Given the description of an element on the screen output the (x, y) to click on. 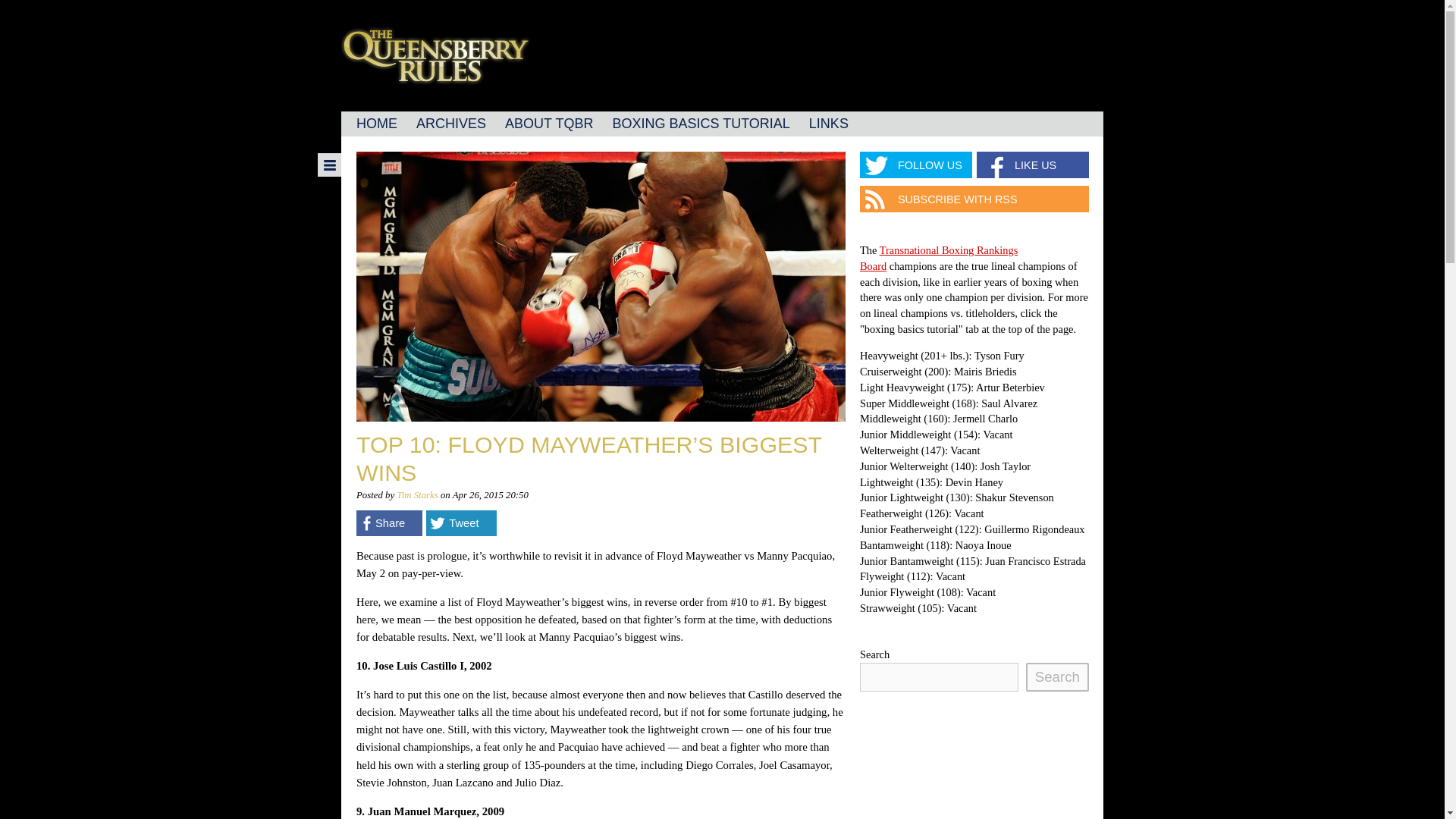
FOLLOW US (916, 164)
HOME (376, 123)
Transnational Boxing Rankings Board (938, 257)
Tweet (461, 523)
Share (389, 523)
ABOUT TQBR (548, 123)
LINKS (829, 123)
BOXING BASICS TUTORIAL (700, 123)
Search (1057, 676)
ARCHIVES (451, 123)
